Given the description of an element on the screen output the (x, y) to click on. 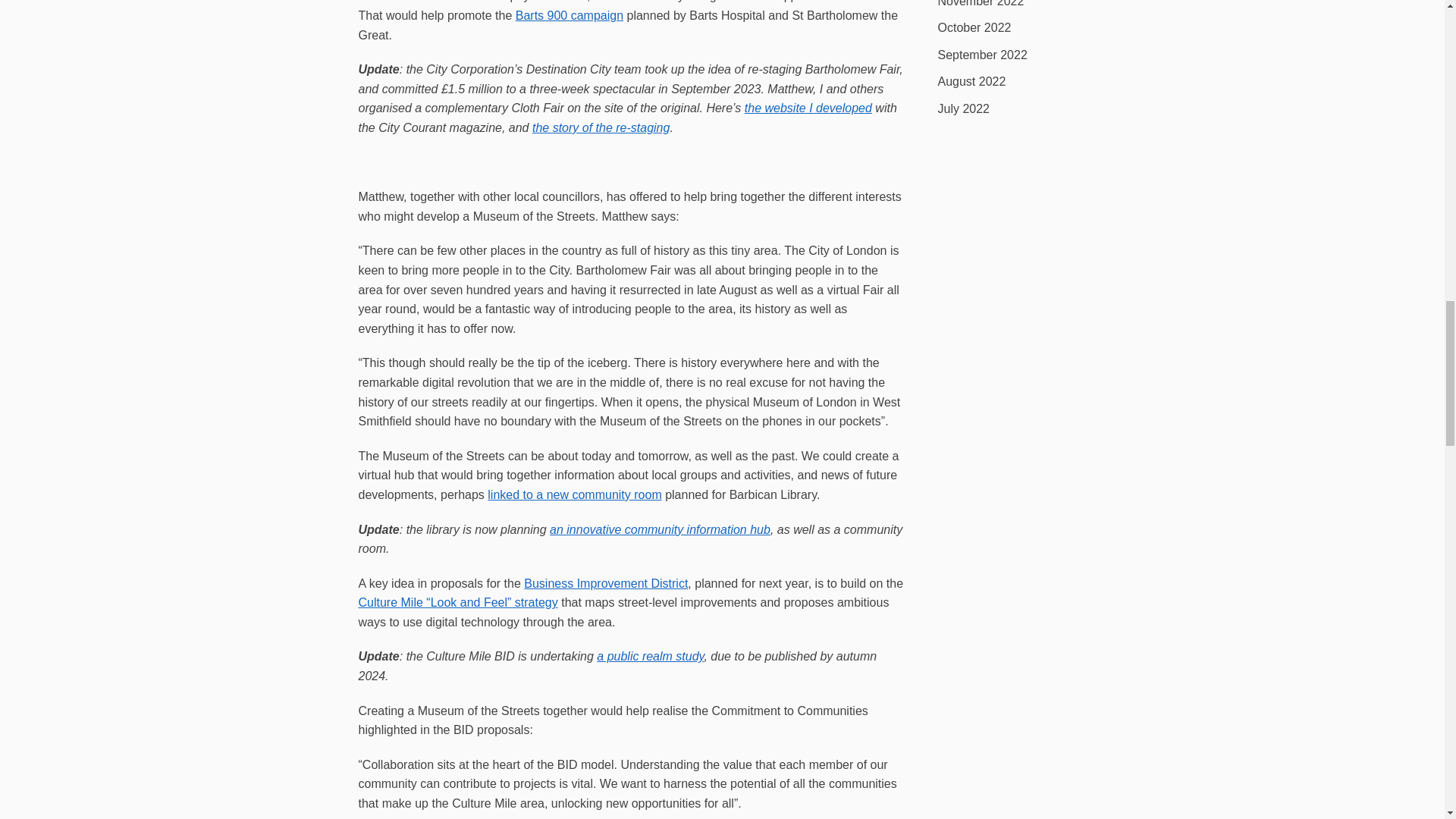
an innovative community information hub (660, 529)
the story of the re-staging (600, 127)
linked to a new community room (574, 494)
Barts 900 campaign (569, 15)
the website I developed (808, 107)
a public realm study (649, 656)
Business Improvement District (605, 583)
